Given the description of an element on the screen output the (x, y) to click on. 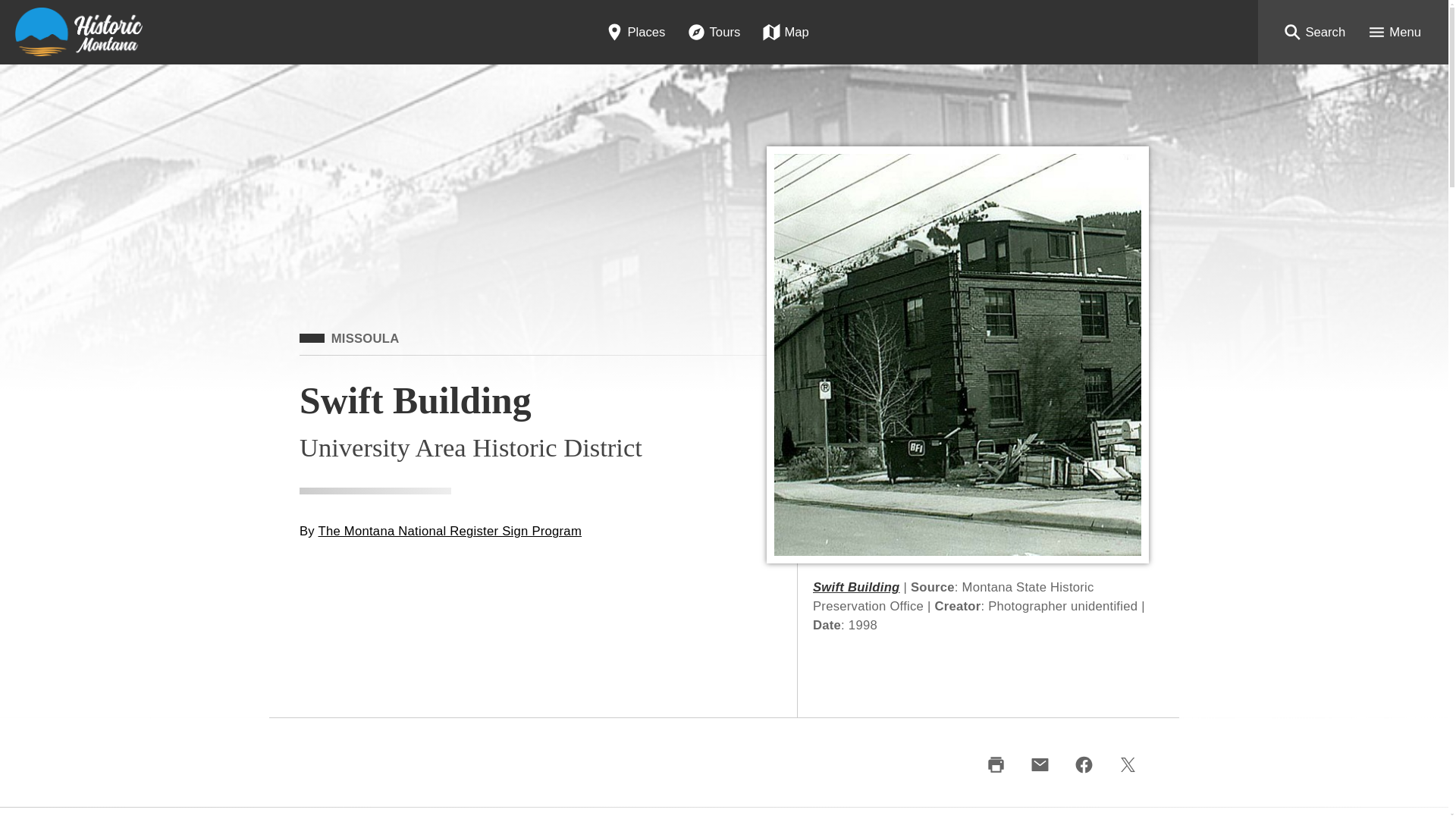
Map (785, 31)
print (995, 764)
Places (635, 31)
Search (1313, 31)
Search (1313, 31)
Menu (1393, 31)
Tours (713, 31)
MISSOULA (348, 338)
Tag: Missoula (348, 338)
Swift Building (855, 586)
Menu (1393, 31)
email (1039, 764)
facebook (1083, 764)
The Montana National Register Sign Program (450, 531)
View File Record (855, 586)
